Given the description of an element on the screen output the (x, y) to click on. 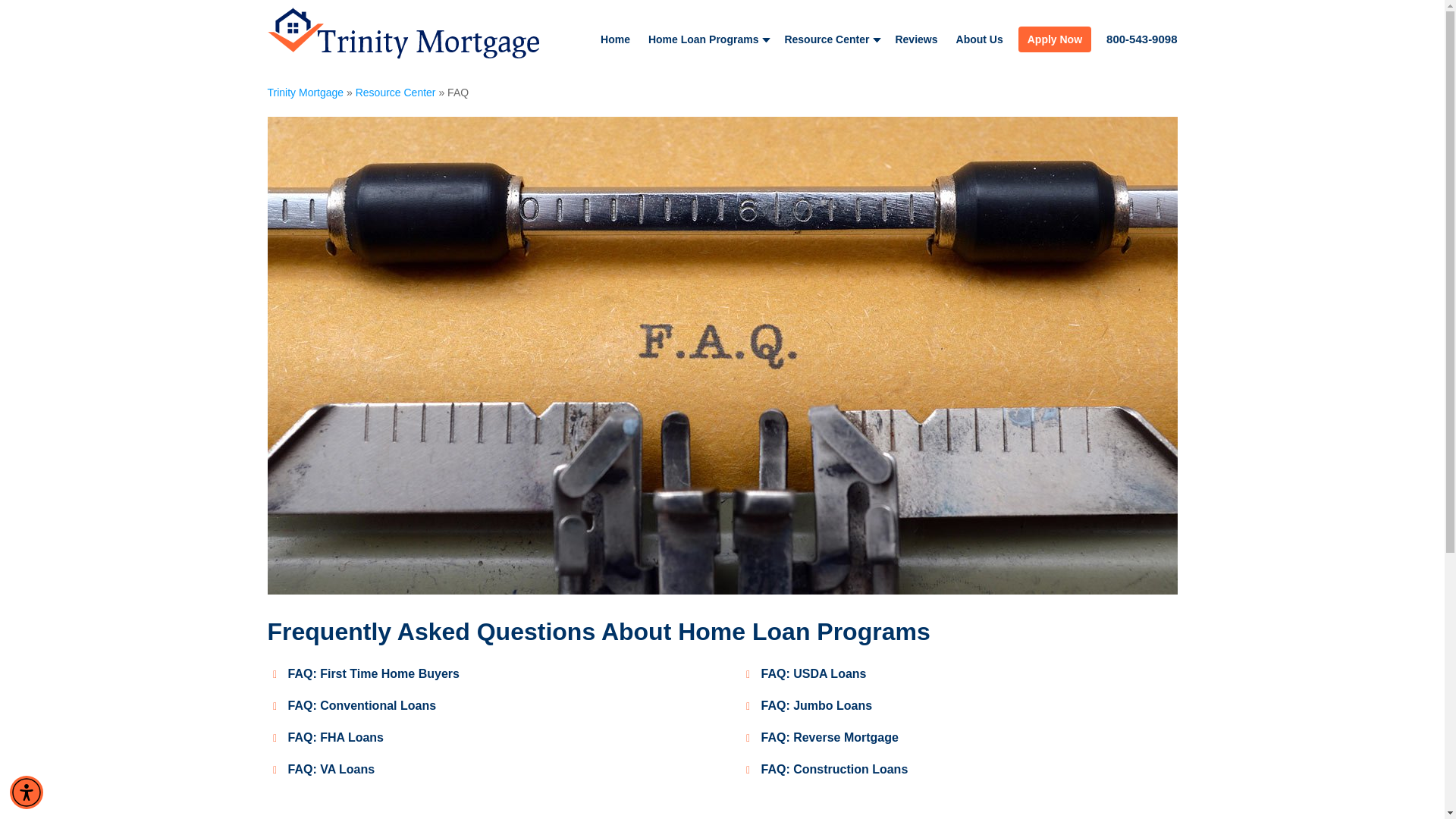
Apply Now (1053, 39)
800-543-9098 (1141, 38)
Home (615, 39)
Resource Center (395, 92)
Accessibility Menu (26, 792)
Reviews (915, 39)
About Us (979, 39)
Trinity Mortgage (403, 37)
Trinity Mortgage (403, 37)
Trinity Mortgage (304, 92)
